Given the description of an element on the screen output the (x, y) to click on. 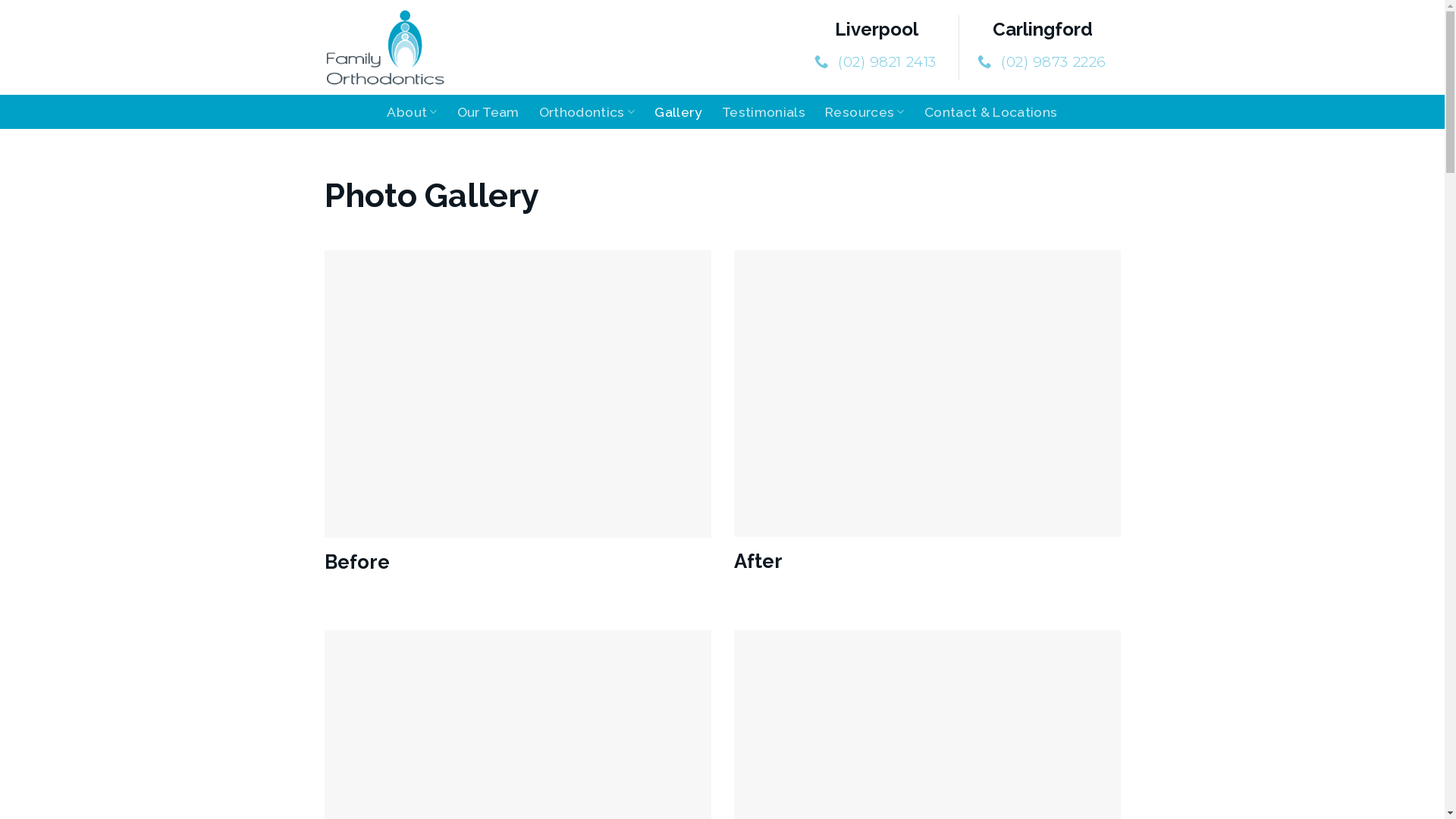
(02) 9873 2226 Element type: text (1042, 61)
(02) 9821 2413 Element type: text (876, 61)
Resources Element type: text (864, 111)
Skip to content Element type: text (0, 0)
Family Orthodontics Element type: hover (400, 47)
About Element type: text (411, 111)
Gallery Element type: text (677, 111)
Orthodontics Element type: text (587, 111)
Testimonials Element type: text (763, 111)
Our Team Element type: text (488, 111)
Contact & Locations Element type: text (990, 111)
